Given the description of an element on the screen output the (x, y) to click on. 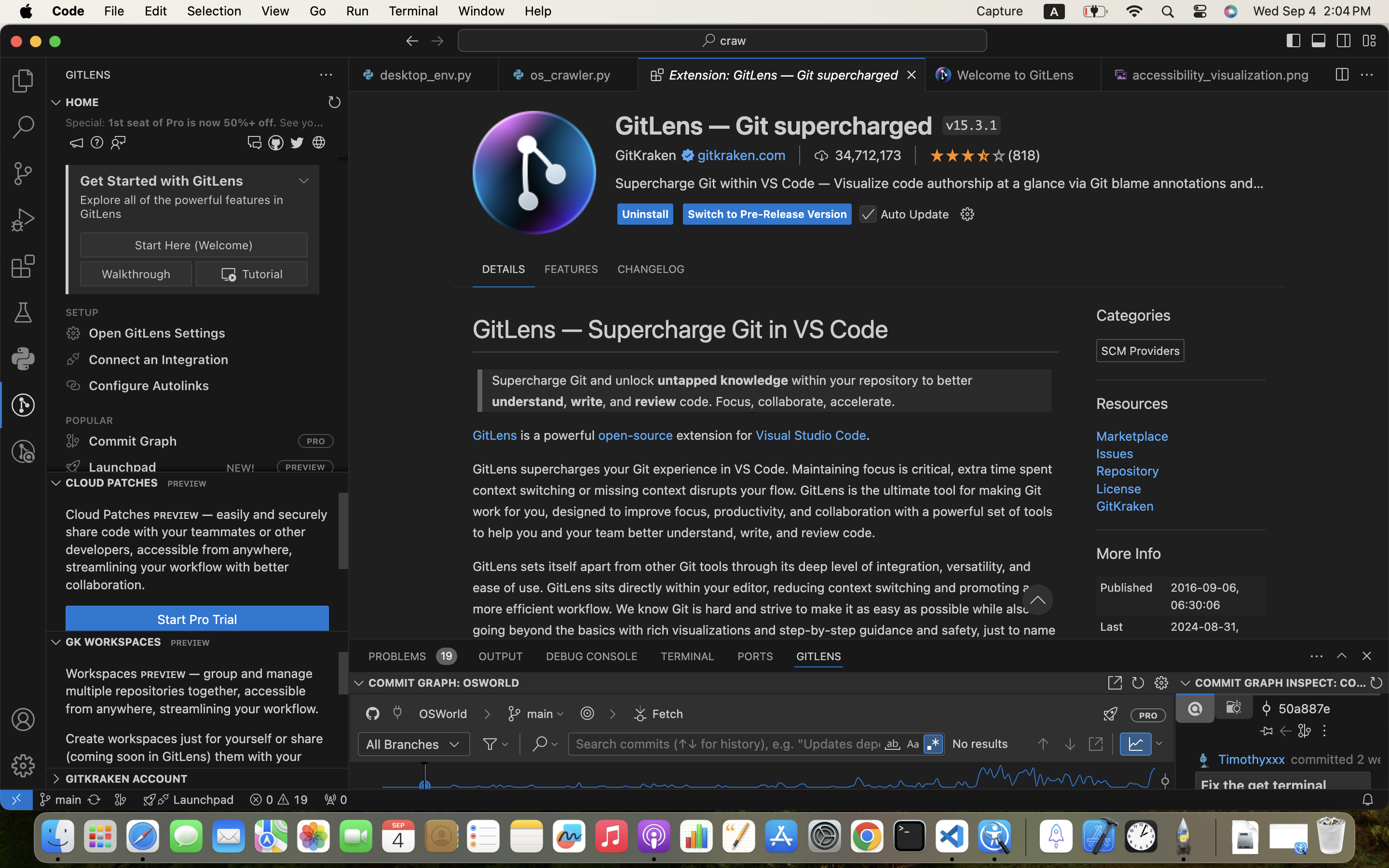
0 OUTPUT Element type: AXRadioButton (500, 655)
Source Control Element type: AXStaticText (1288, 515)
GitKraken Element type: AXStaticText (646, 154)
 Element type: AXStaticText (971, 545)
 Element type: AXGroup (23, 719)
